Given the description of an element on the screen output the (x, y) to click on. 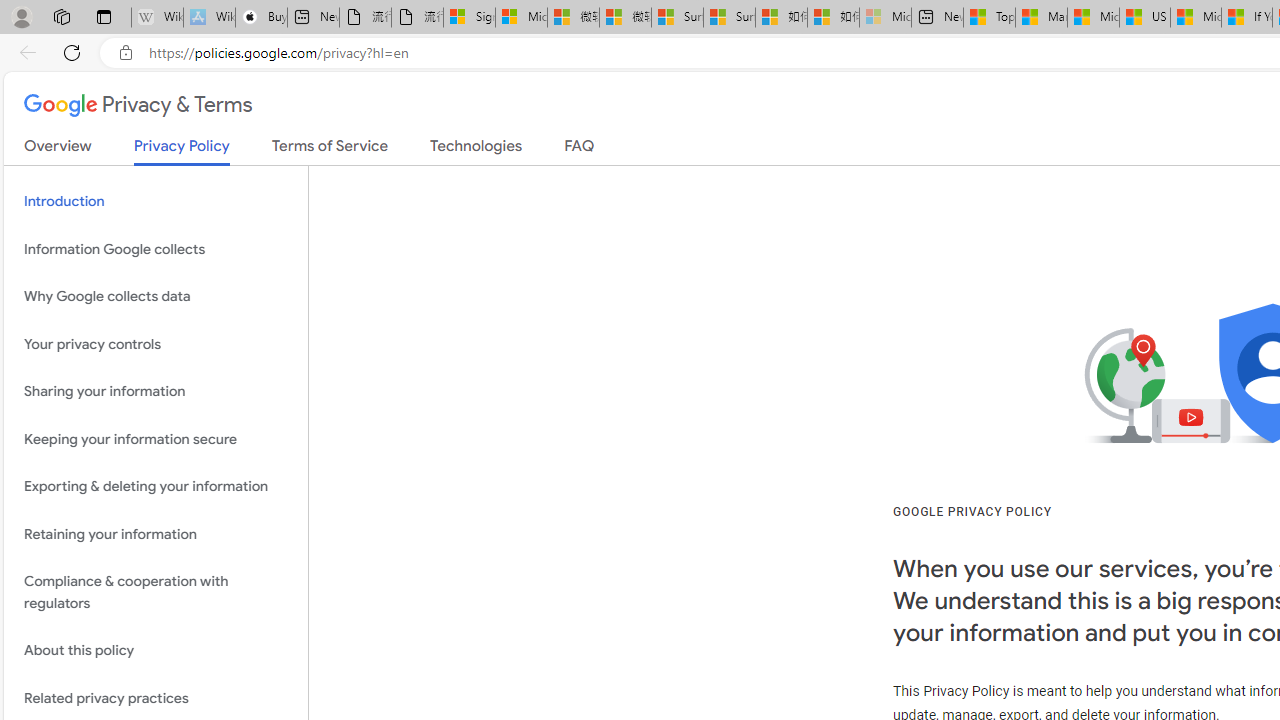
Retaining your information (155, 533)
Buy iPad - Apple (260, 17)
Exporting & deleting your information (155, 486)
Privacy Policy (181, 151)
Introduction (155, 201)
Your privacy controls (155, 343)
Keeping your information secure (155, 438)
Marine life - MSN (1041, 17)
Why Google collects data (155, 296)
Compliance & cooperation with regulators (155, 592)
Information Google collects (155, 249)
Keeping your information secure (155, 438)
